Given the description of an element on the screen output the (x, y) to click on. 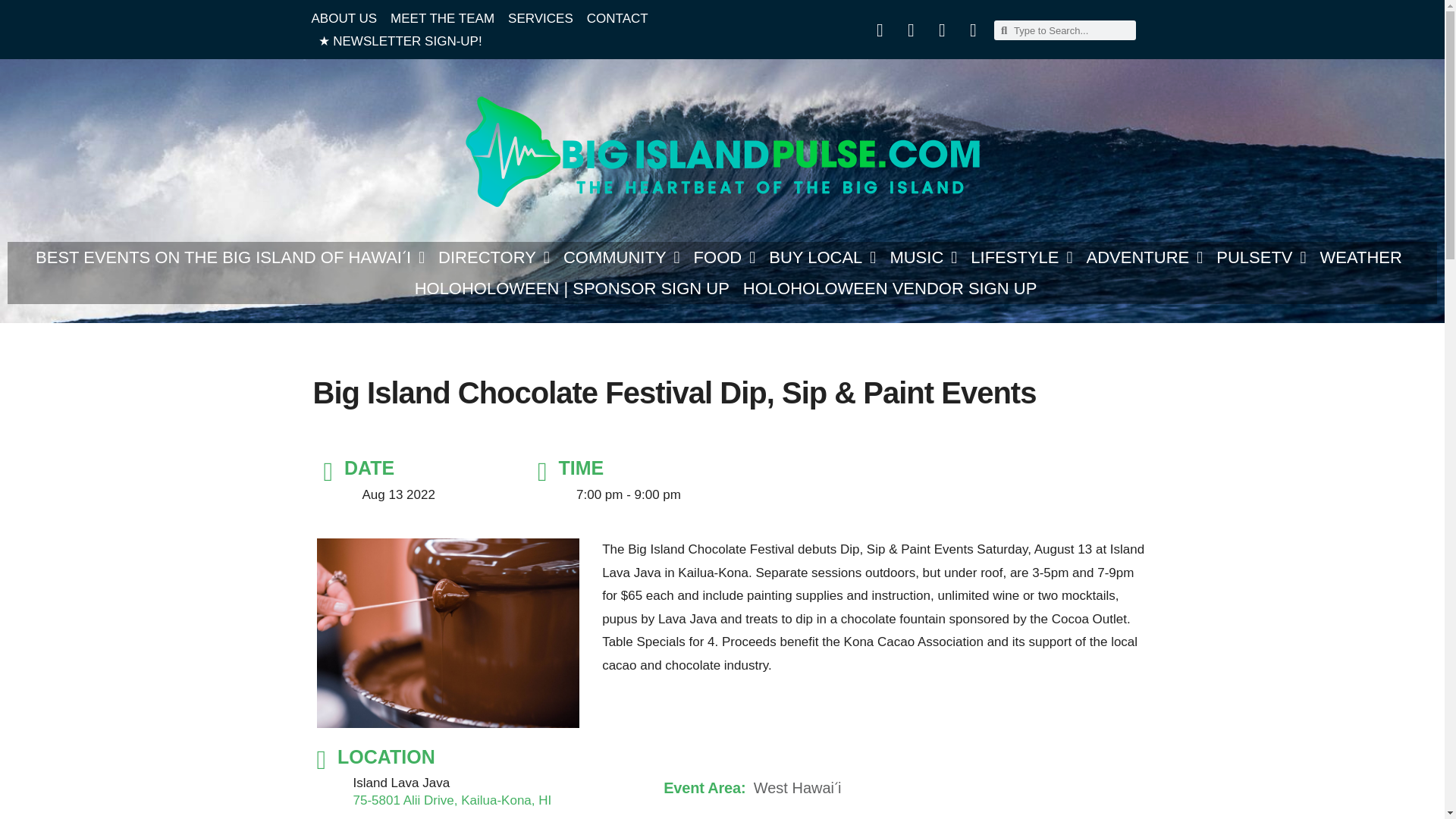
COMMUNITY (621, 257)
BUY LOCAL (822, 257)
FOOD (724, 257)
SERVICES (540, 18)
MEET THE TEAM (442, 18)
CONTACT (616, 18)
ABOUT US (344, 18)
DIRECTORY (494, 257)
